Given the description of an element on the screen output the (x, y) to click on. 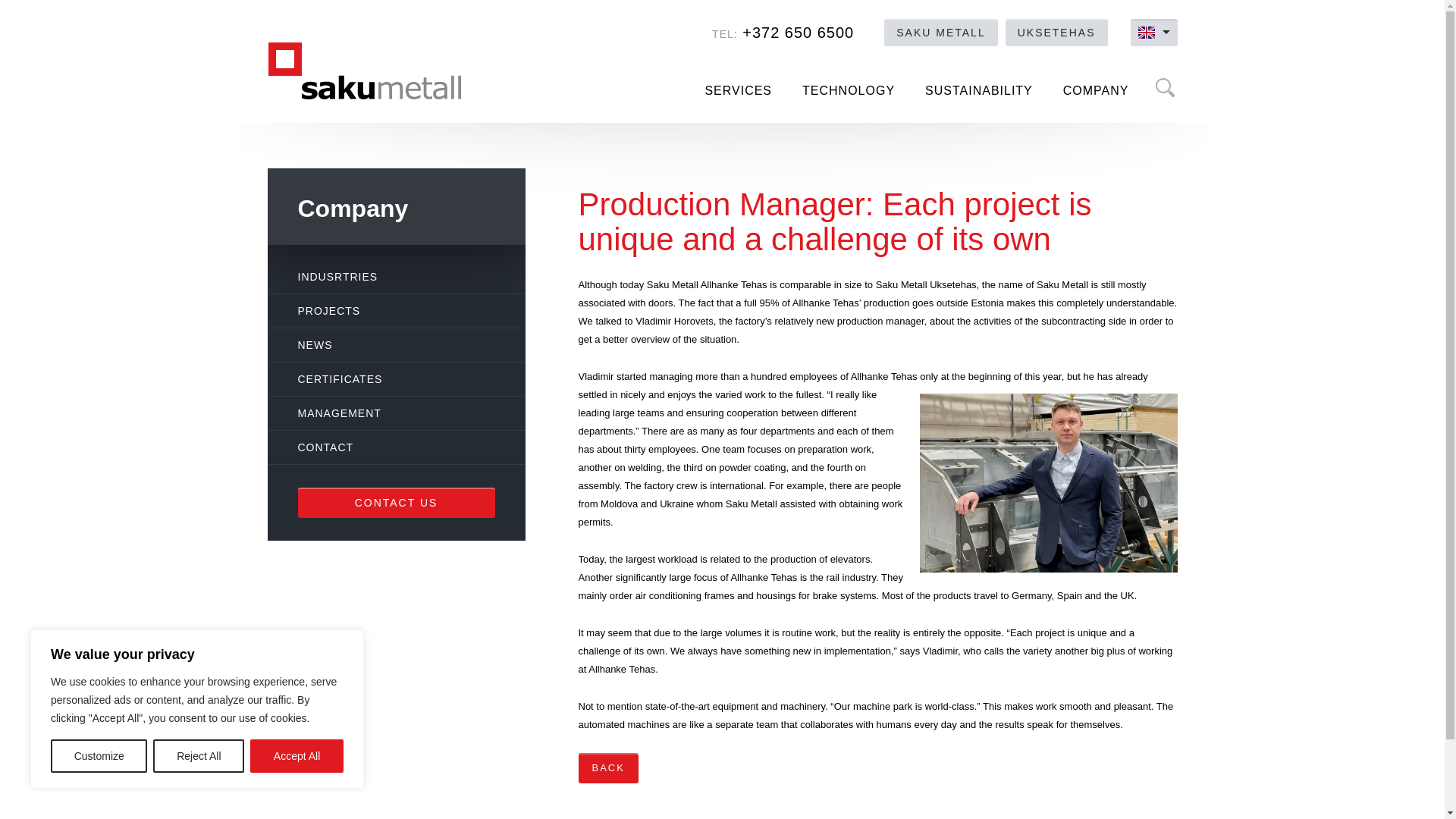
SAKU METALL (940, 31)
CONTACT (392, 447)
CONTACT US (396, 502)
NEWS (392, 344)
UKSETEHAS (1057, 31)
Reject All (198, 756)
CERTIFICATES (392, 378)
INDUSRTRIES (392, 276)
TECHNOLOGY (848, 90)
COMPANY (1096, 90)
Search on the website (1163, 86)
BACK (607, 767)
SERVICES (737, 90)
Customize (98, 756)
MANAGEMENT (392, 412)
